Given the description of an element on the screen output the (x, y) to click on. 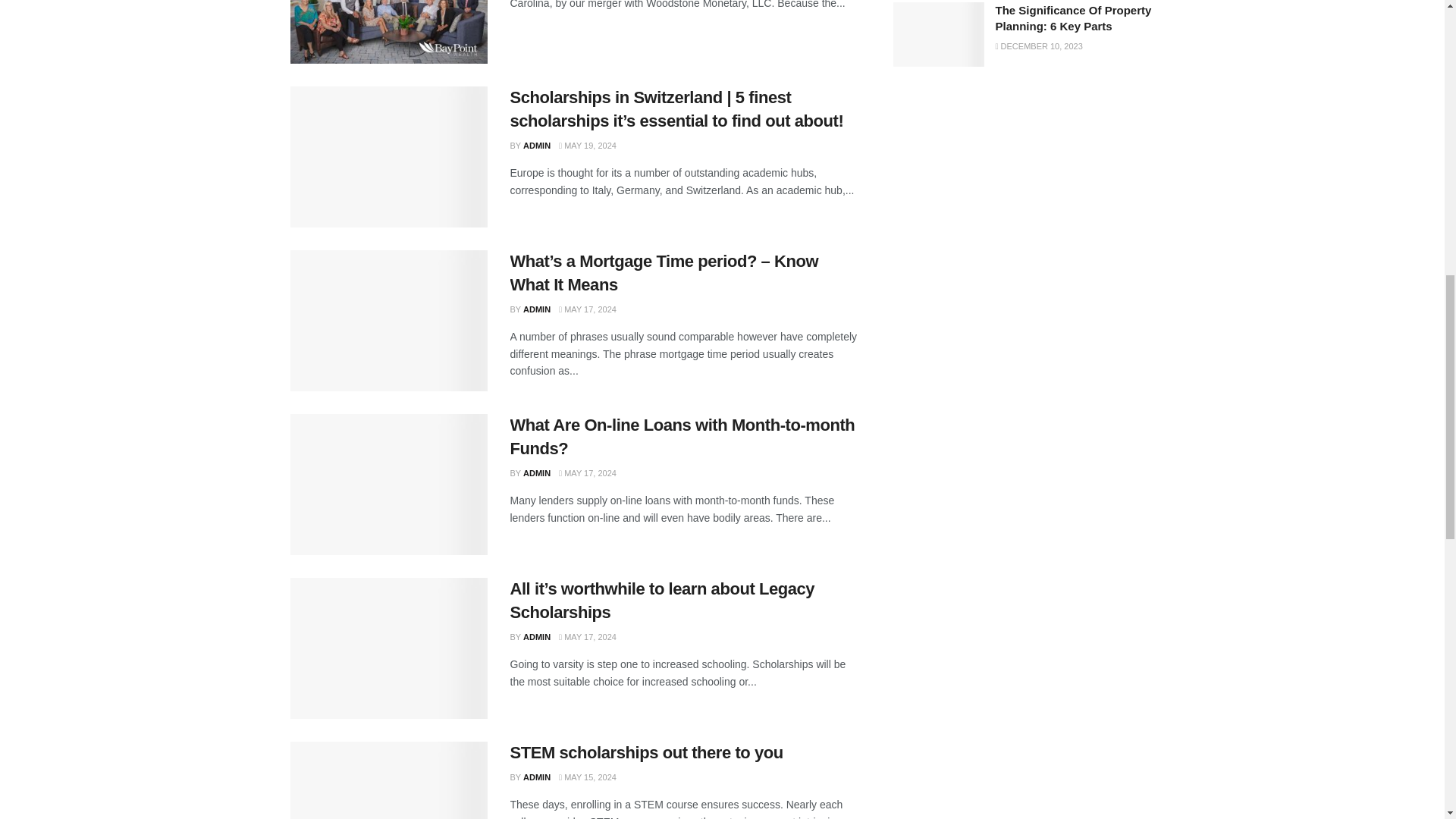
ADMIN (536, 144)
